Given the description of an element on the screen output the (x, y) to click on. 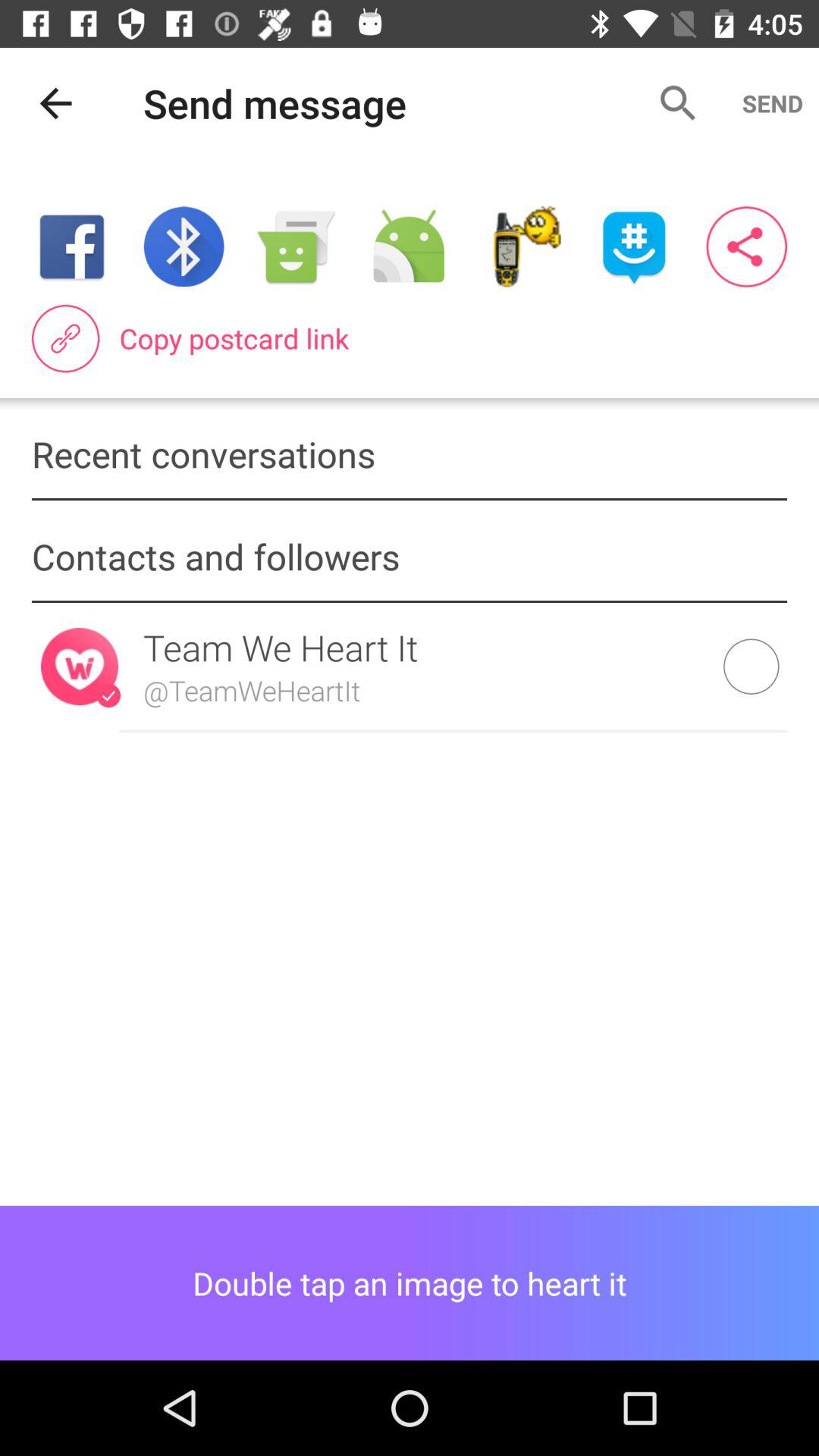
facebook (71, 246)
